Given the description of an element on the screen output the (x, y) to click on. 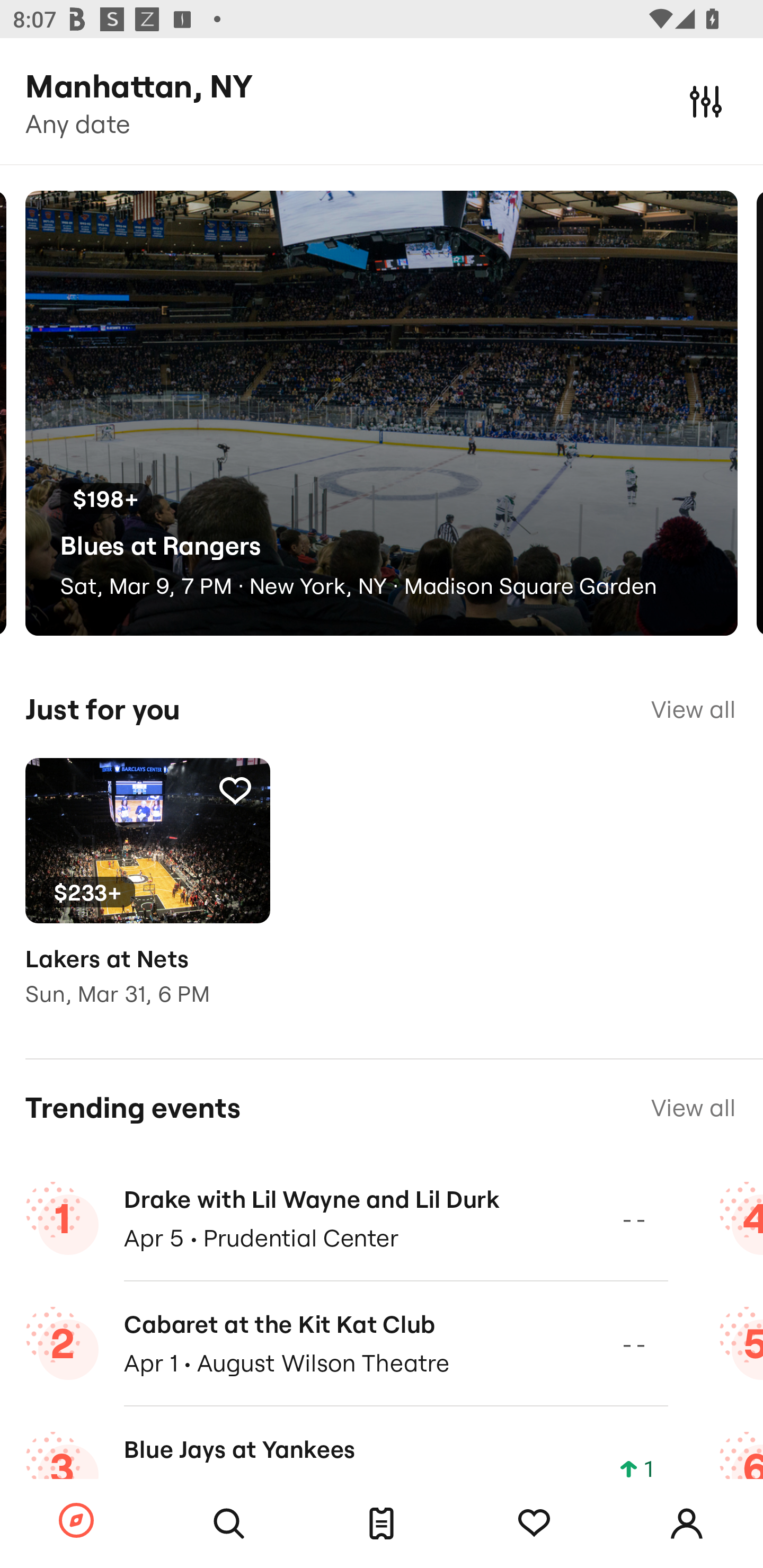
Filters (705, 100)
View all (693, 709)
Tracking $233+ Lakers at Nets Sun, Mar 31, 6 PM (147, 895)
Tracking (234, 790)
View all (693, 1108)
Browse (76, 1521)
Search (228, 1523)
Tickets (381, 1523)
Tracking (533, 1523)
Account (686, 1523)
